Given the description of an element on the screen output the (x, y) to click on. 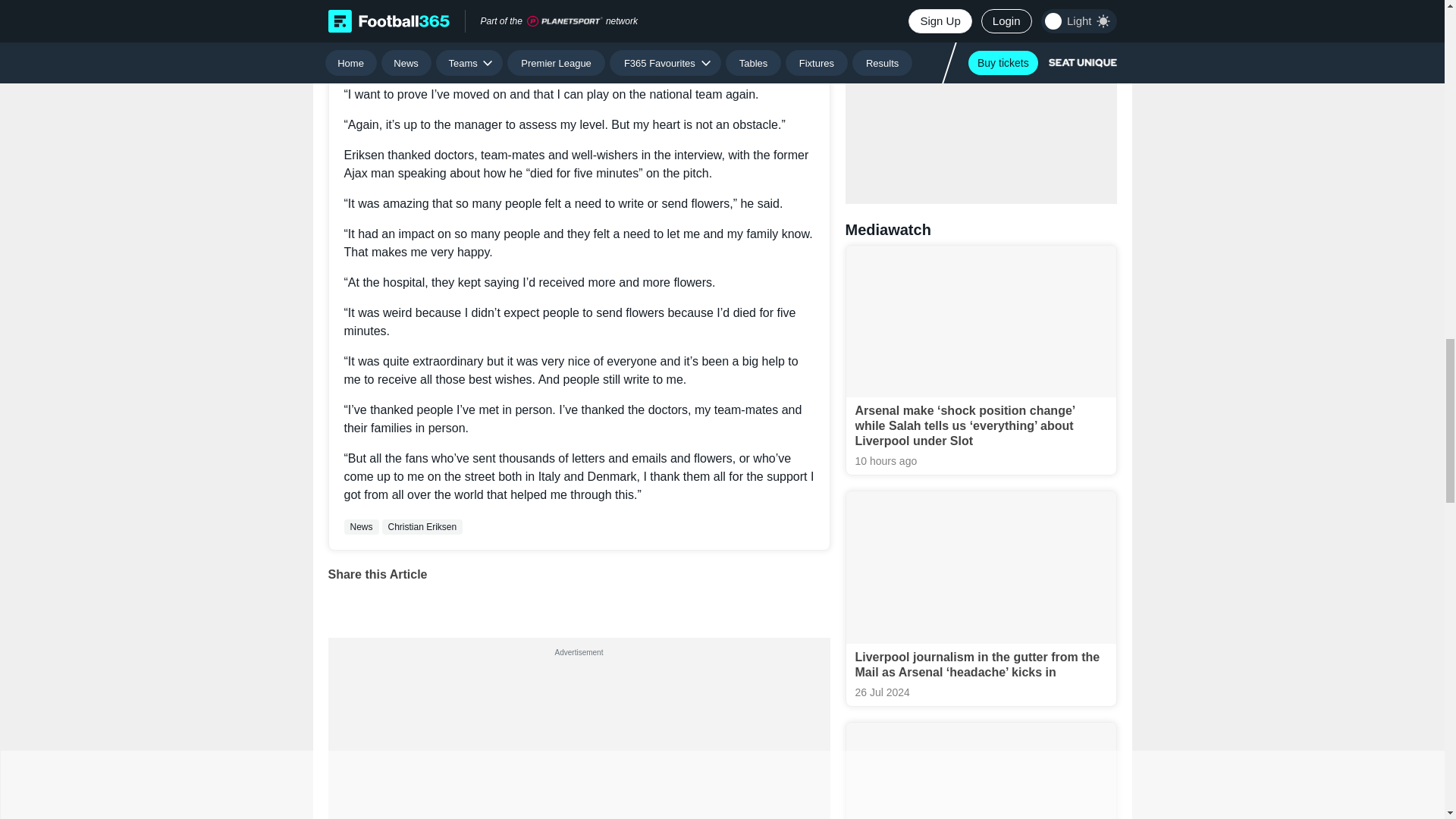
3rd party ad content (578, 739)
Vuukle Sharebar Widget (578, 600)
3rd party ad content (980, 89)
